Given the description of an element on the screen output the (x, y) to click on. 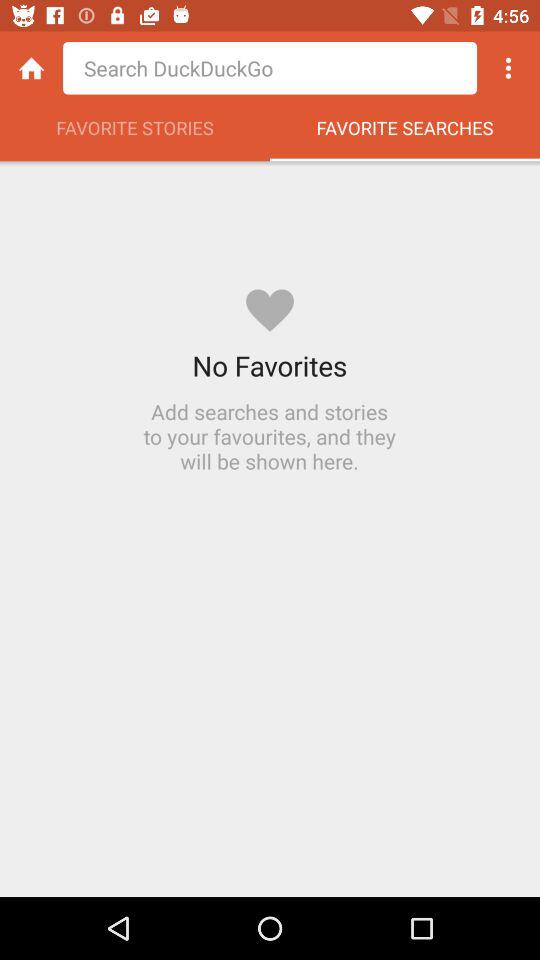
options (508, 68)
